Given the description of an element on the screen output the (x, y) to click on. 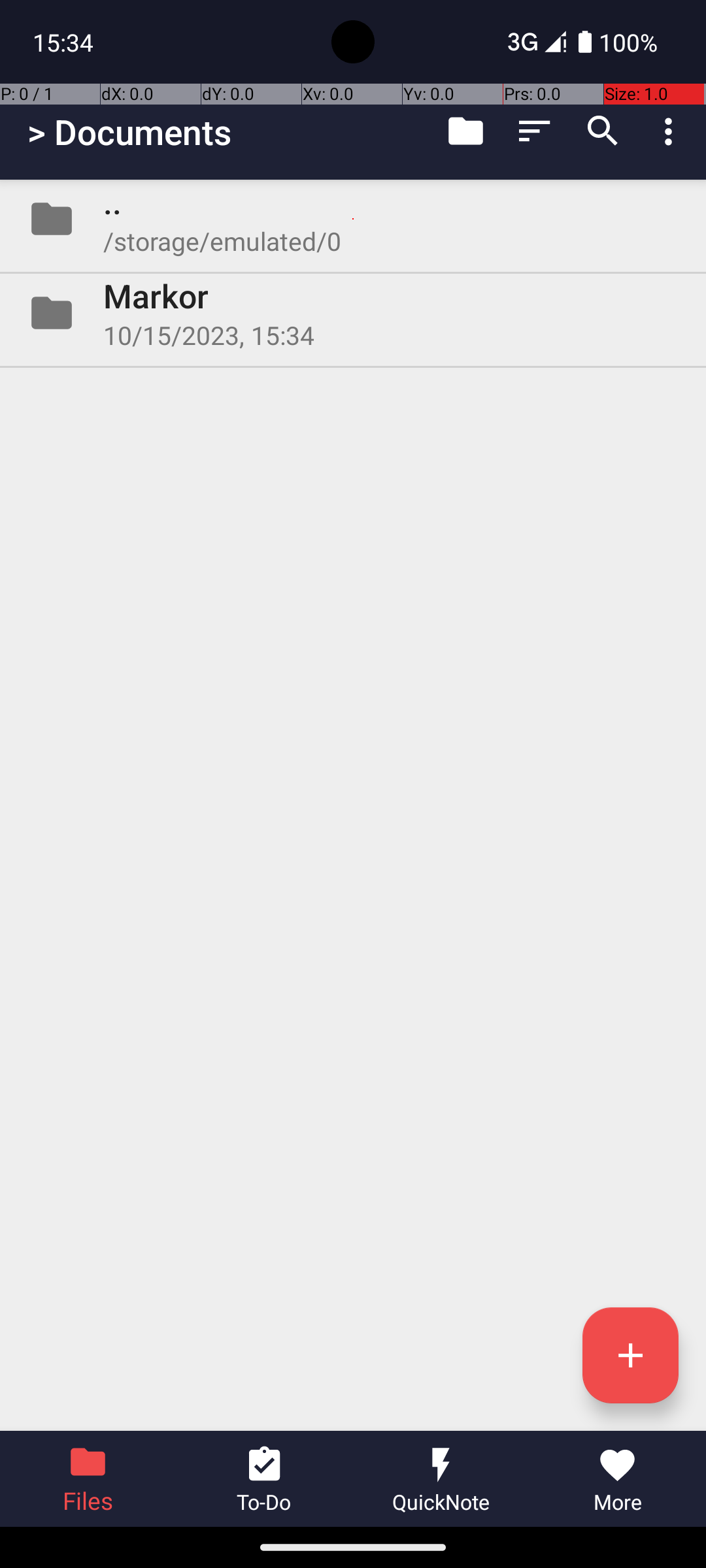
> Documents Element type: android.widget.TextView (129, 131)
Folder .. /storage/emulated/0/Documents Element type: android.widget.LinearLayout (353, 218)
Folder Markor 10/15/2023, 15:34 Element type: android.widget.LinearLayout (353, 312)
